Given the description of an element on the screen output the (x, y) to click on. 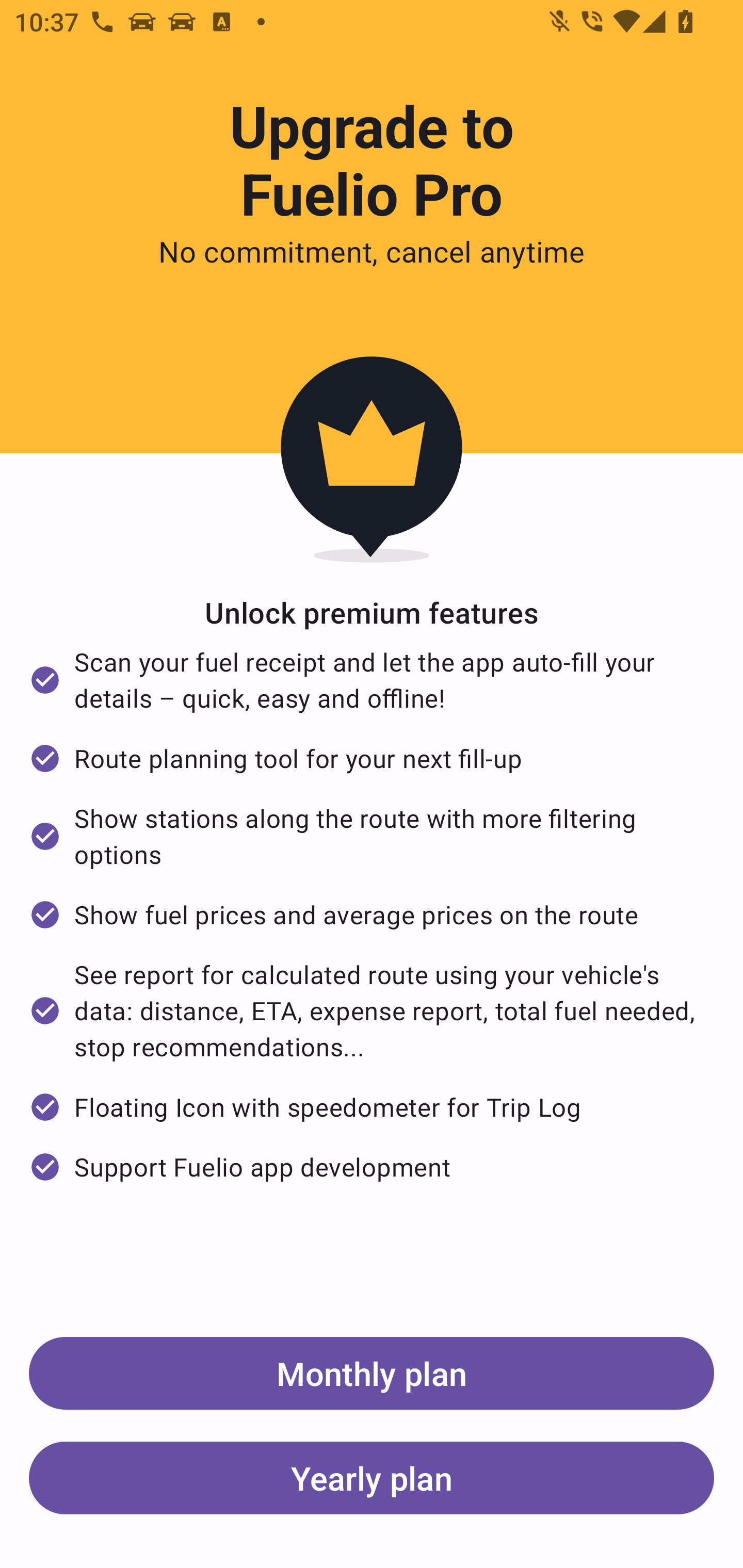
Monthly plan (371, 1373)
Yearly plan (371, 1477)
